Given the description of an element on the screen output the (x, y) to click on. 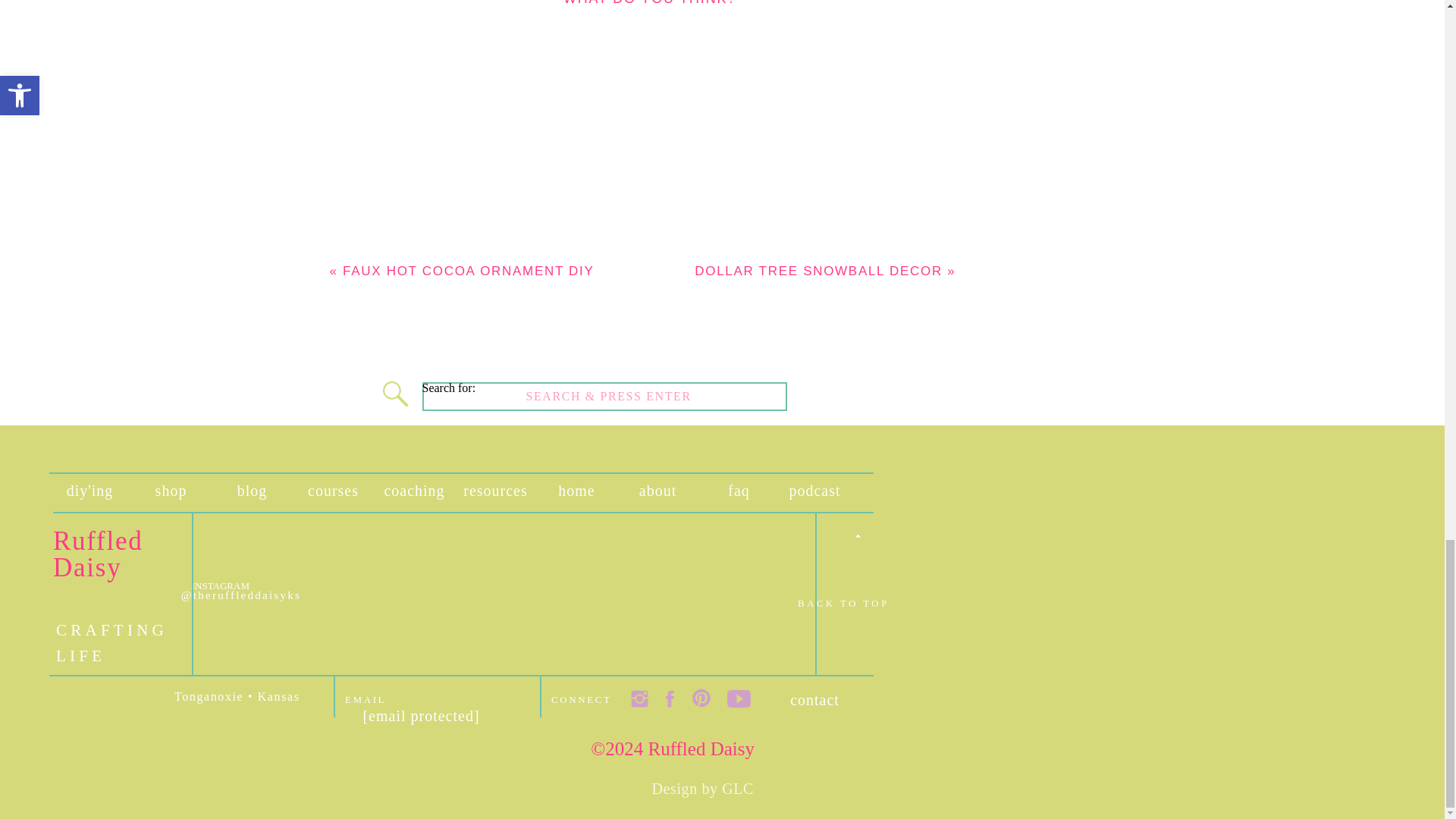
Reindeer Antlers (334, 29)
